Given the description of an element on the screen output the (x, y) to click on. 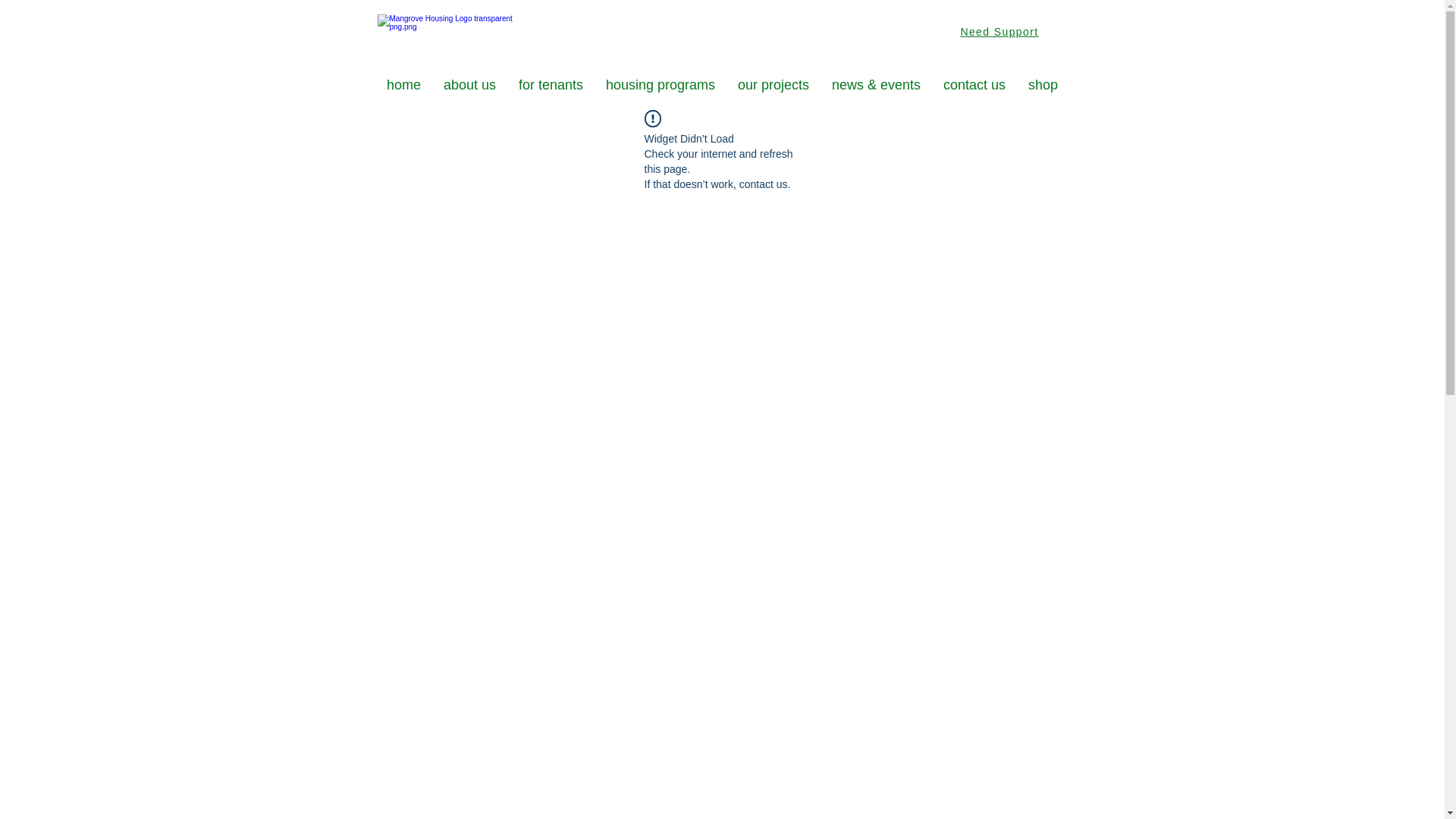
about us Element type: text (469, 85)
contact us Element type: text (973, 85)
shop Element type: text (1042, 85)
our projects Element type: text (773, 85)
for tenants Element type: text (550, 85)
home Element type: text (403, 85)
Need Support Element type: text (1000, 31)
news & events Element type: text (875, 85)
housing programs Element type: text (660, 85)
